Given the description of an element on the screen output the (x, y) to click on. 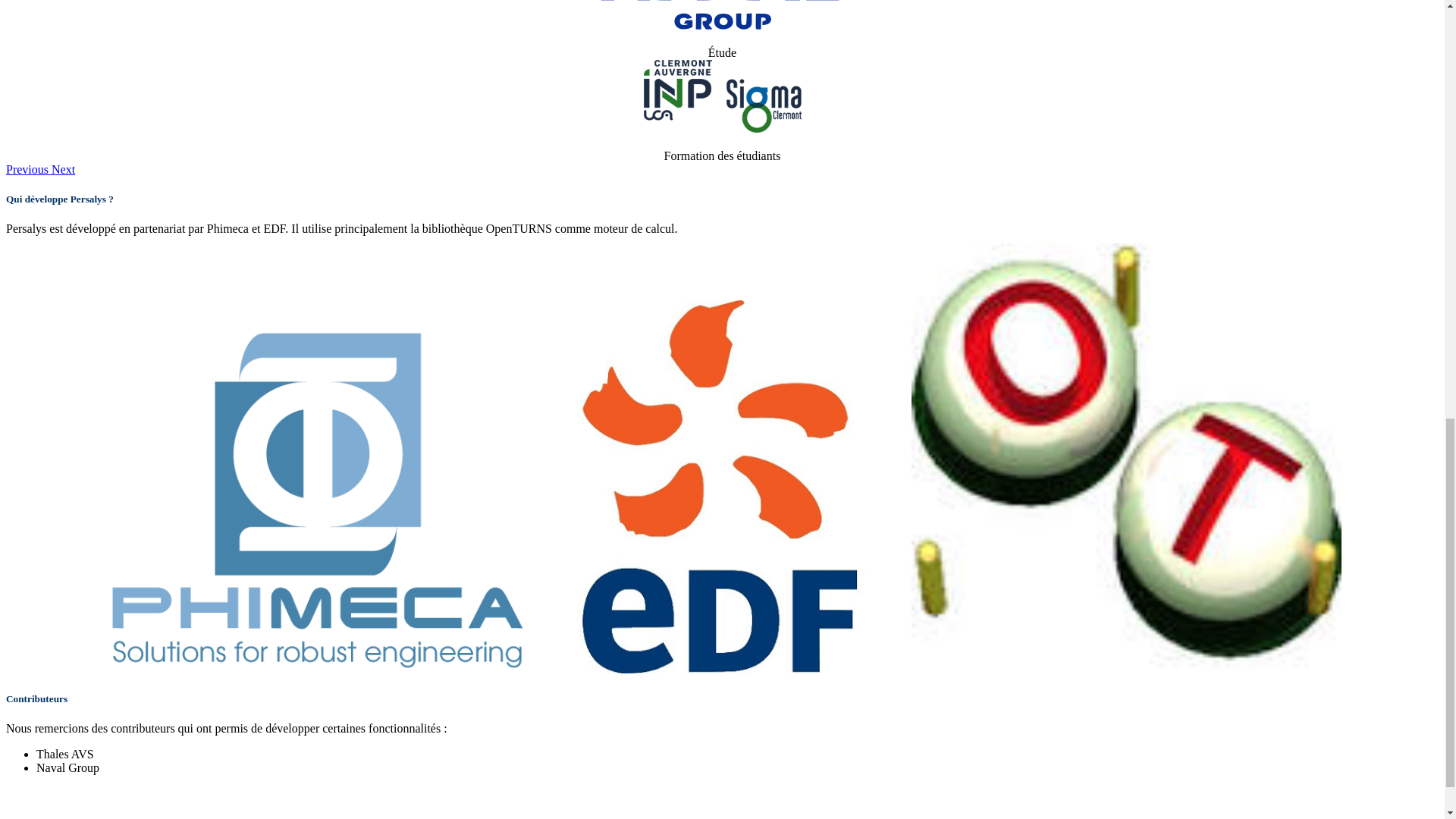
Previous (27, 169)
Next (62, 169)
